Given the description of an element on the screen output the (x, y) to click on. 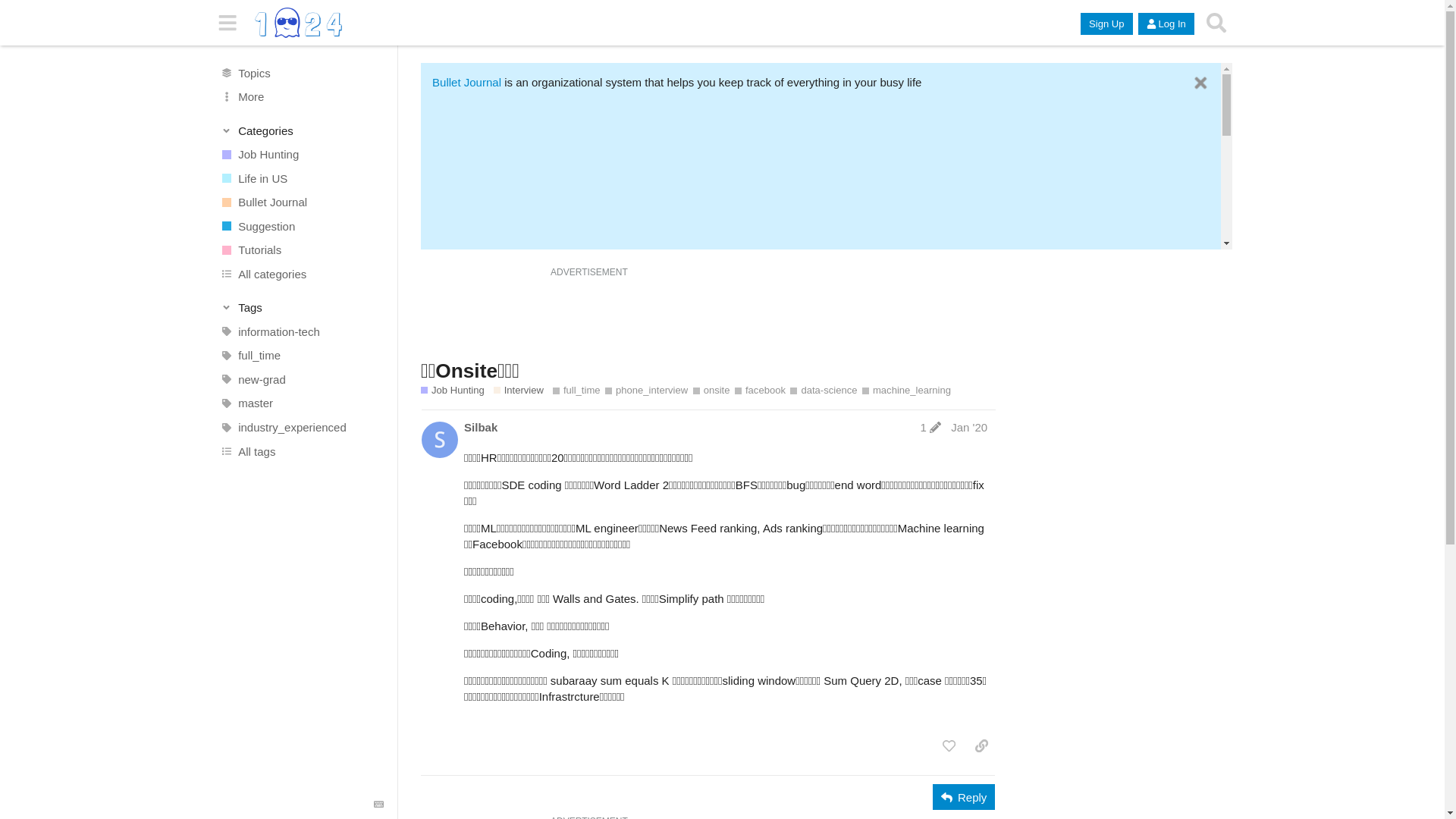
share a link to this post Element type: hover (981, 746)
All categories Element type: text (300, 274)
master Element type: text (300, 403)
Log In Element type: text (1166, 23)
industry_experienced Element type: text (300, 427)
Reply Element type: text (963, 796)
new-grad Element type: text (300, 379)
Topics Element type: text (300, 72)
Sign Up Element type: text (1106, 23)
Bullet Journal Element type: text (300, 202)
Silbak Element type: text (480, 427)
full_time Element type: text (576, 390)
facebook Element type: text (759, 390)
onsite Element type: text (711, 390)
information-tech Element type: text (300, 332)
phone_interview Element type: text (646, 390)
All tags Element type: text (300, 451)
Interview Element type: text (518, 390)
full_time Element type: text (300, 355)
Dismiss this banner Element type: hover (1200, 82)
1 Element type: text (930, 426)
facebook.com Element type: text (500, 440)
Keyboard Shortcuts Element type: hover (378, 804)
data-science Element type: text (823, 390)
Hide sidebar Element type: hover (227, 22)
Life in US Element type: text (300, 178)
machine_learning Element type: text (906, 390)
Jan '20 Element type: text (968, 426)
Bullet Journal Element type: text (466, 81)
Job Hunting Element type: text (300, 154)
More Element type: text (300, 96)
Tags Element type: text (301, 307)
Tutorials Element type: text (300, 250)
Bullet Journal US Element type: text (558, 468)
Search Element type: hover (1215, 22)
Job Hunting Element type: text (452, 390)
Suggestion Element type: text (300, 225)
Categories Element type: text (301, 130)
like this post Element type: hover (949, 746)
Advertisement Element type: hover (826, 315)
